Given the description of an element on the screen output the (x, y) to click on. 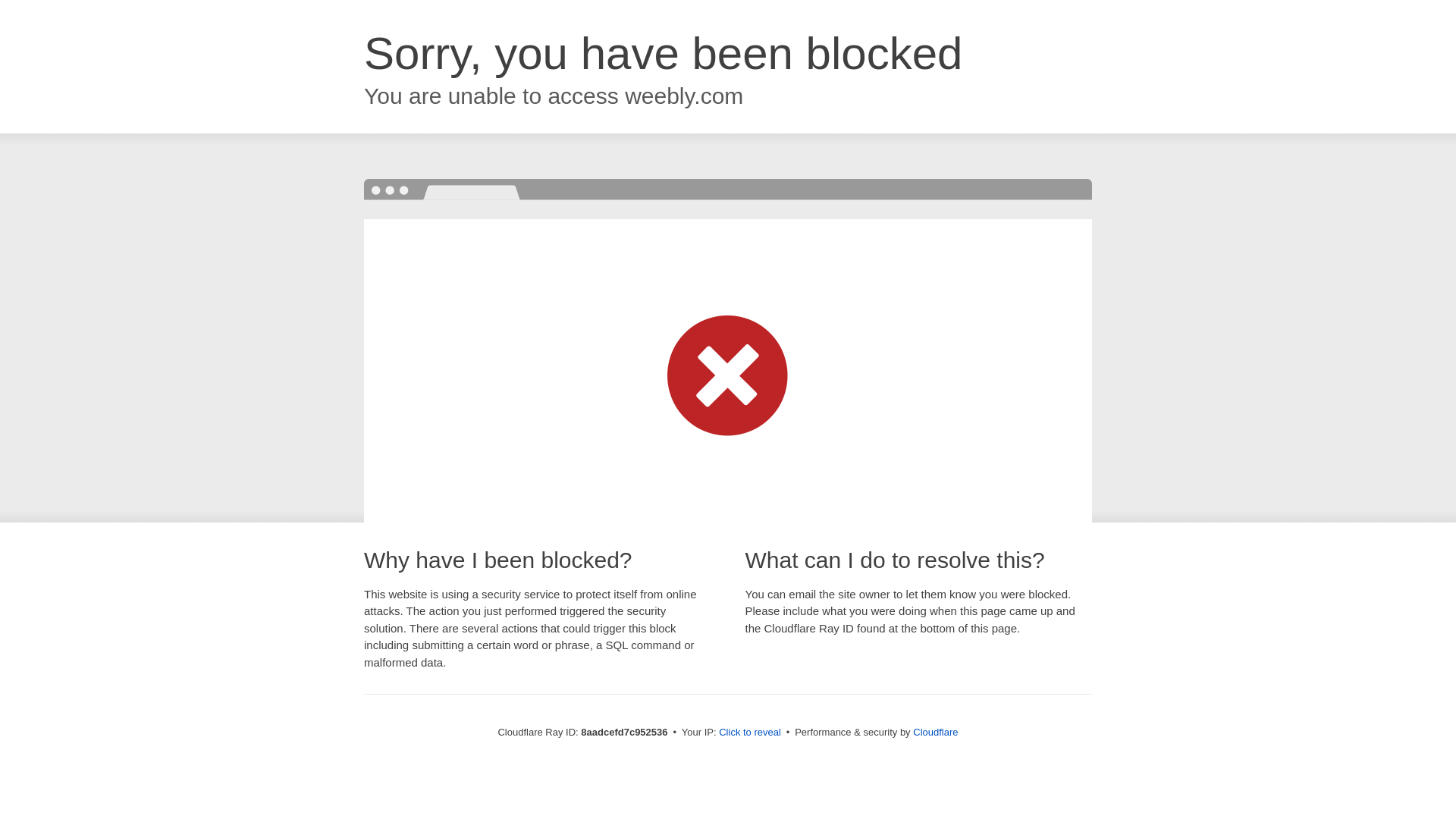
Click to reveal (749, 732)
Cloudflare (935, 731)
